Given the description of an element on the screen output the (x, y) to click on. 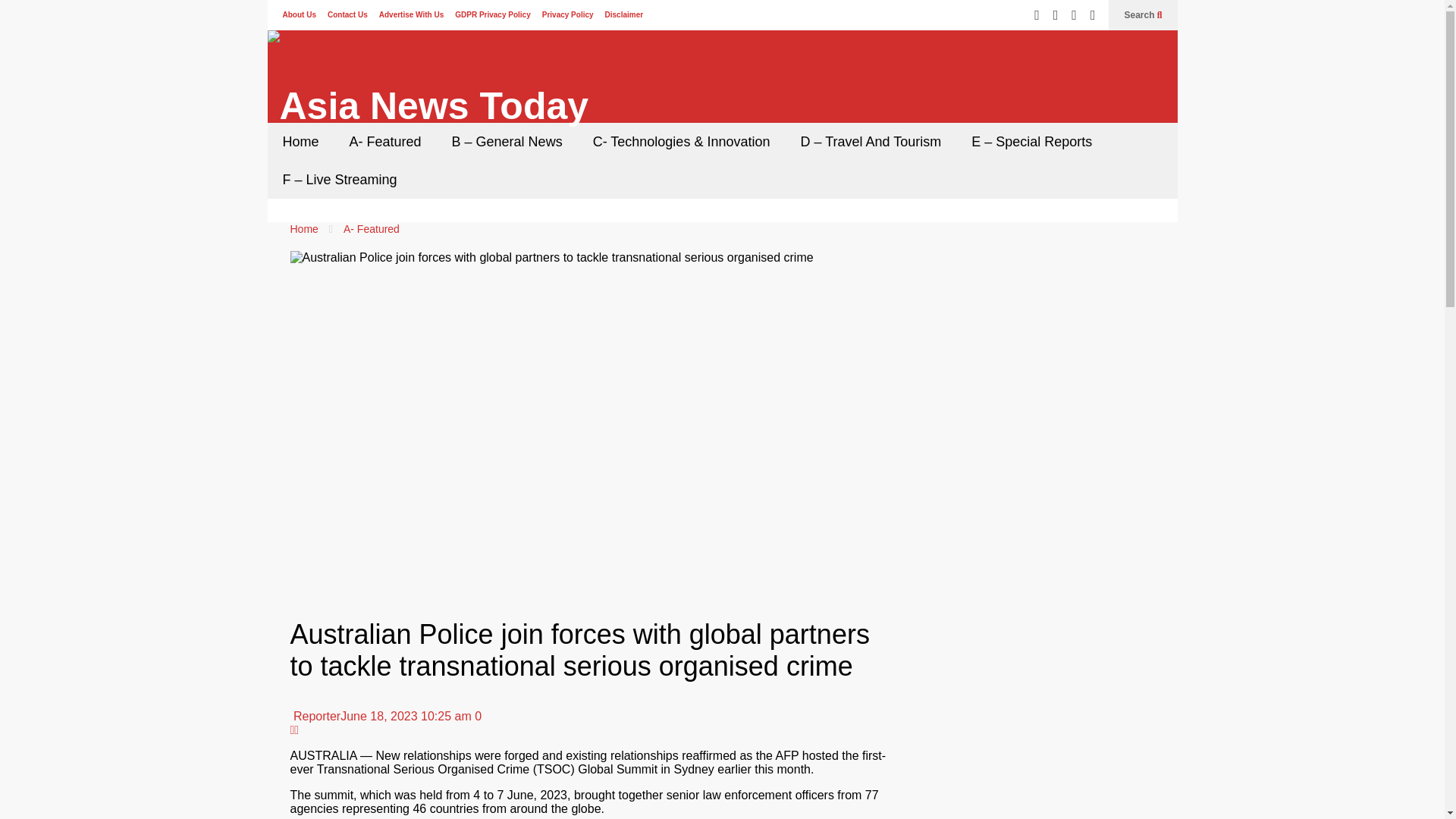
0 (476, 716)
GDPR Privacy Policy (492, 14)
Search (1142, 15)
About Us (298, 14)
Twitter (1036, 15)
Asia News Today (427, 105)
Home (299, 141)
Facebook (1055, 15)
Twitter (296, 729)
Reporter (314, 716)
A- Featured (370, 228)
June 18, 2023 10:25 am (405, 716)
Privacy Policy (567, 14)
Disclaimer (624, 14)
